Given the description of an element on the screen output the (x, y) to click on. 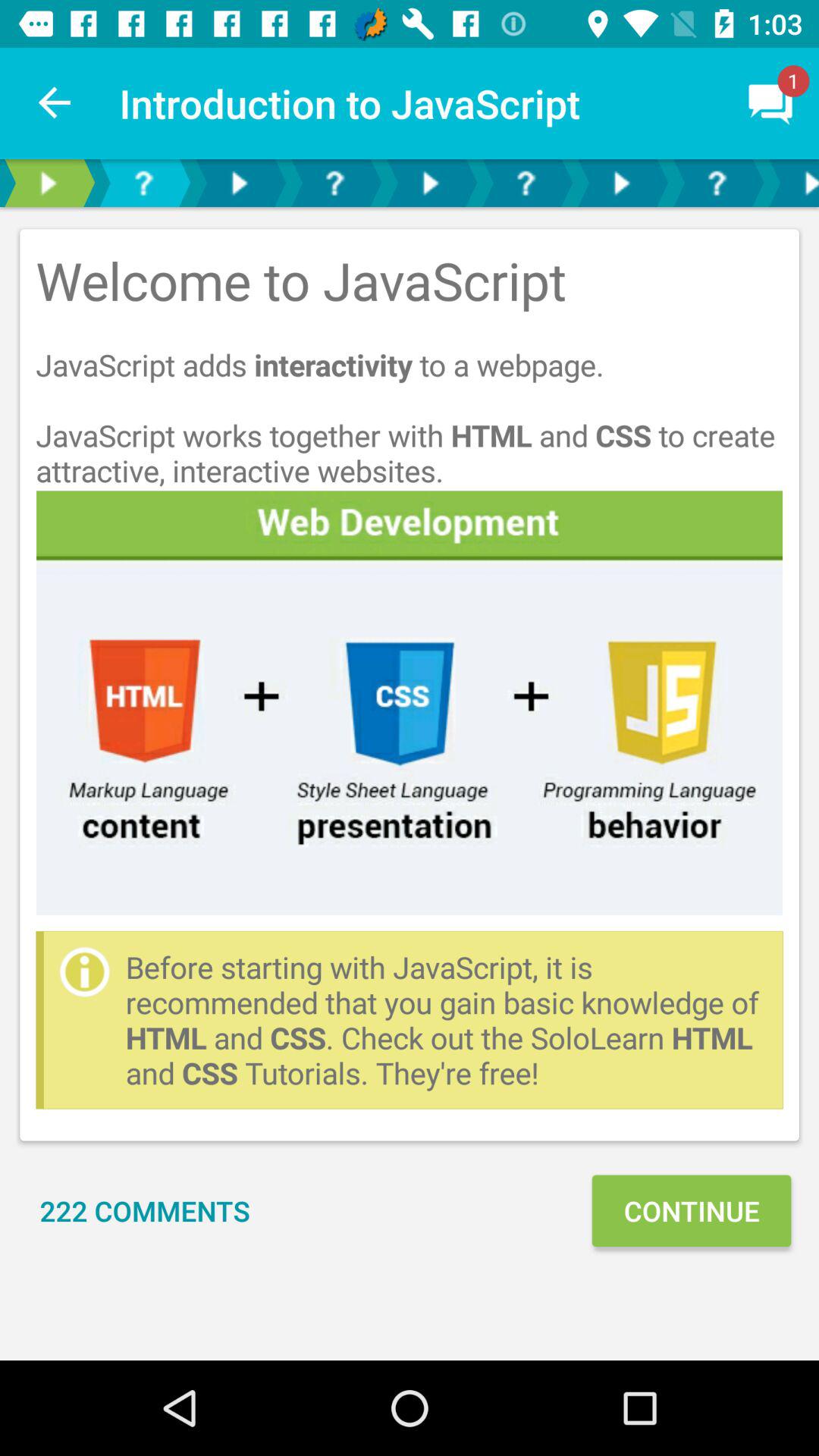
whats new (334, 183)
